Given the description of an element on the screen output the (x, y) to click on. 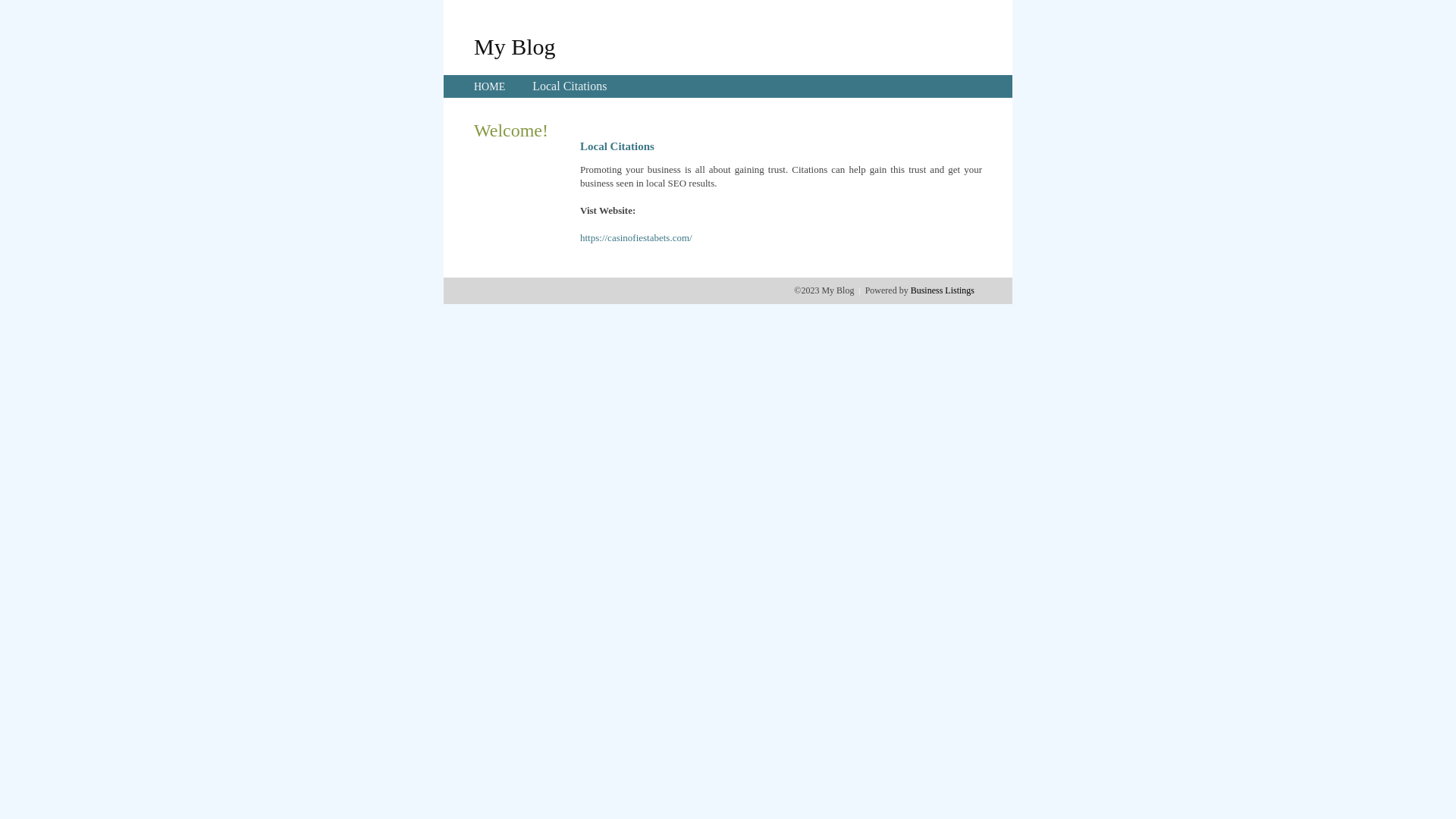
My Blog Element type: text (514, 46)
Local Citations Element type: text (569, 85)
HOME Element type: text (489, 86)
Business Listings Element type: text (942, 290)
https://casinofiestabets.com/ Element type: text (636, 237)
